Given the description of an element on the screen output the (x, y) to click on. 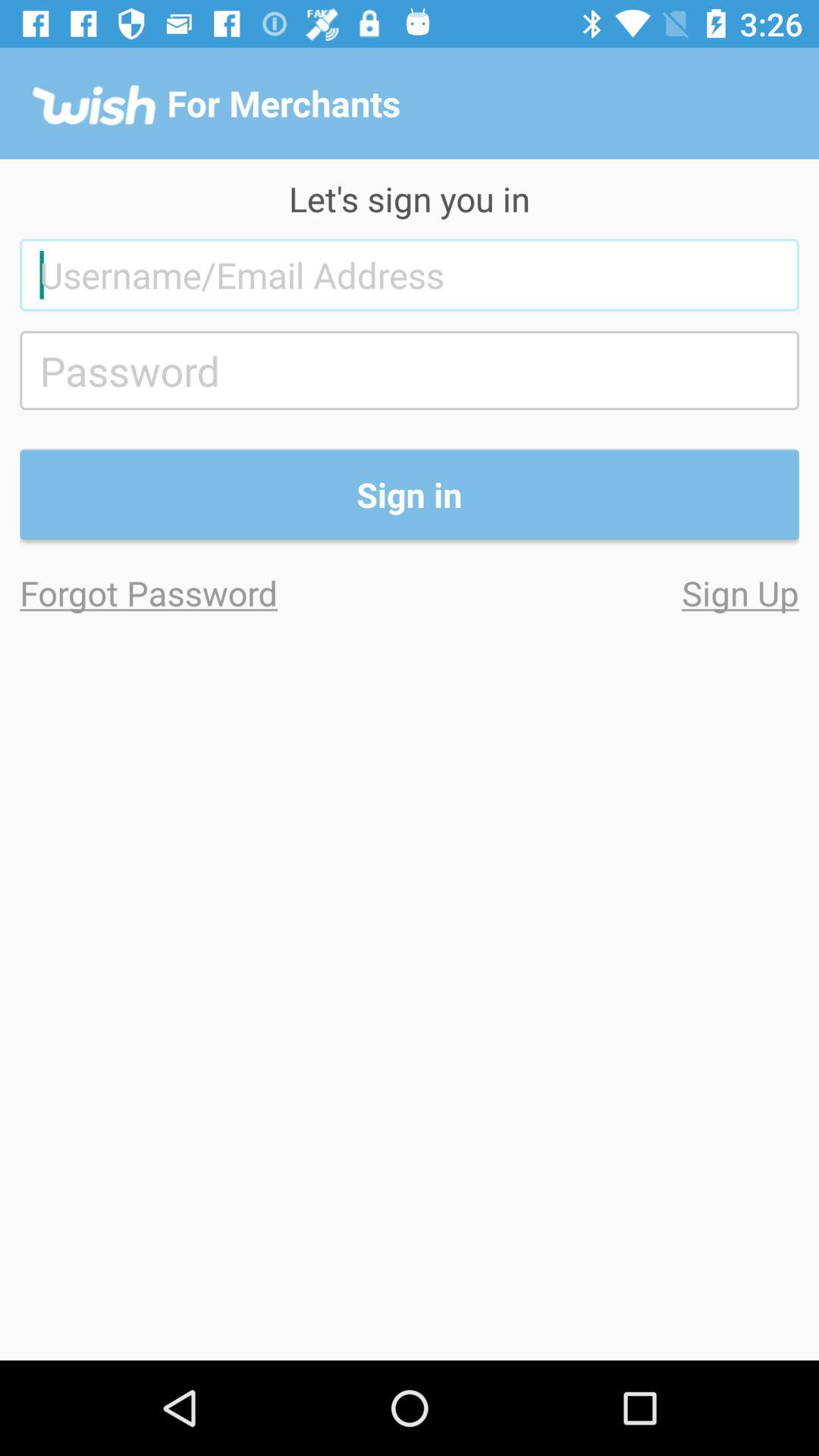
turn off the item next to sign up icon (214, 592)
